Given the description of an element on the screen output the (x, y) to click on. 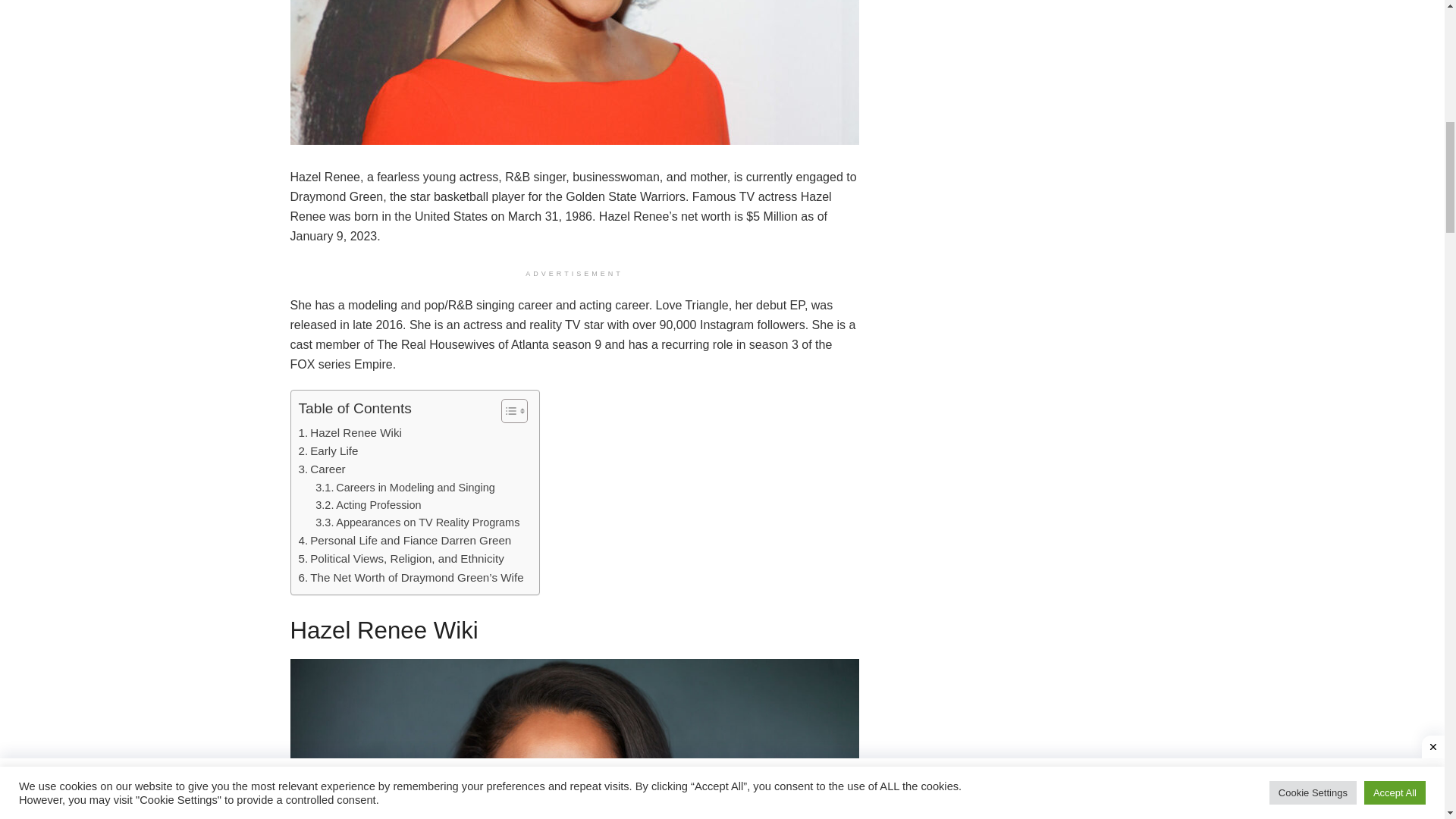
Early Life (328, 451)
Personal Life and Fiance Darren Green (405, 540)
Appearances on TV Reality Programs (417, 522)
Careers in Modeling and Singing (405, 487)
Hazel Renee Wiki (349, 433)
Hazel Renee Wiki (349, 433)
Political Views, Religion, and Ethnicity (400, 558)
Career (322, 469)
Acting Profession (367, 505)
Career (322, 469)
